Given the description of an element on the screen output the (x, y) to click on. 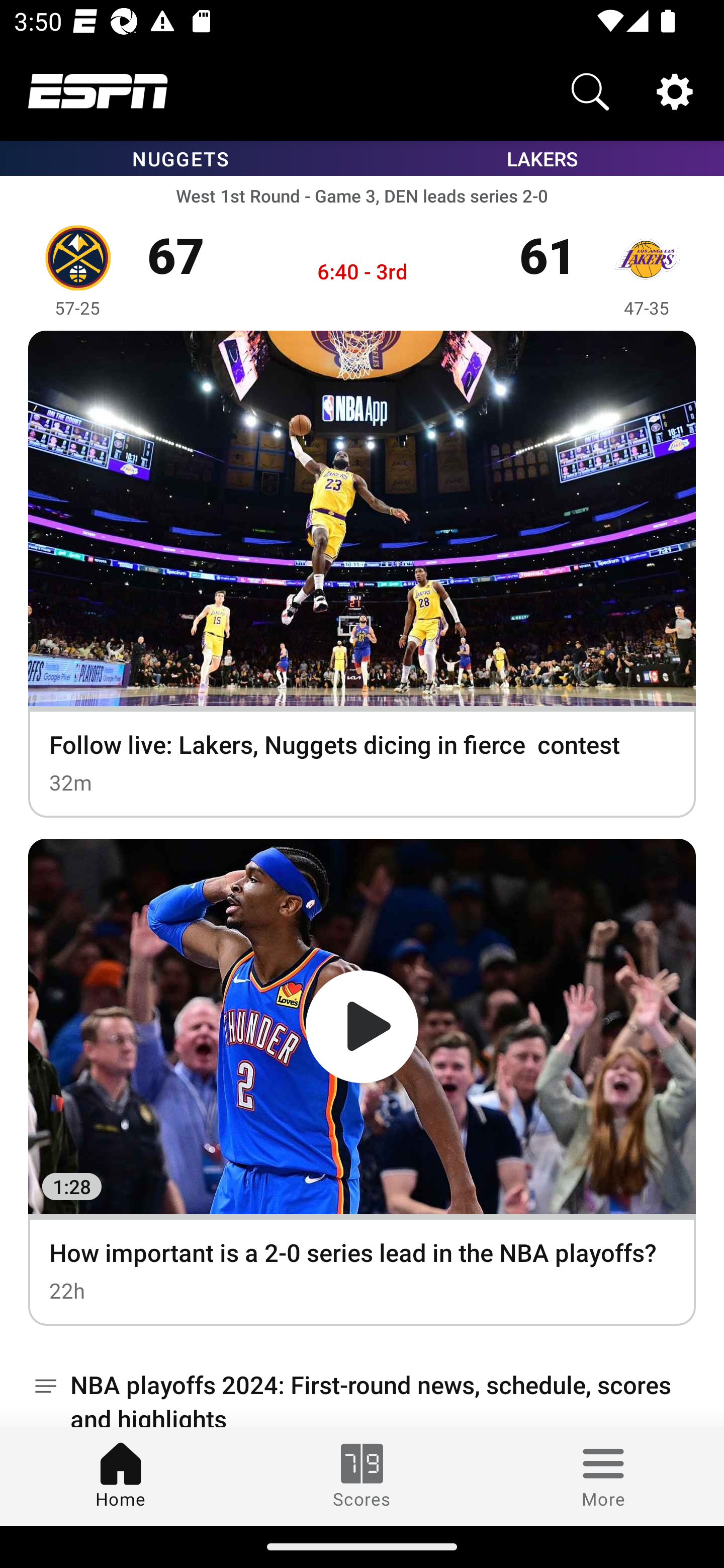
Search (590, 90)
Settings (674, 90)
Scores (361, 1475)
More (603, 1475)
